Given the description of an element on the screen output the (x, y) to click on. 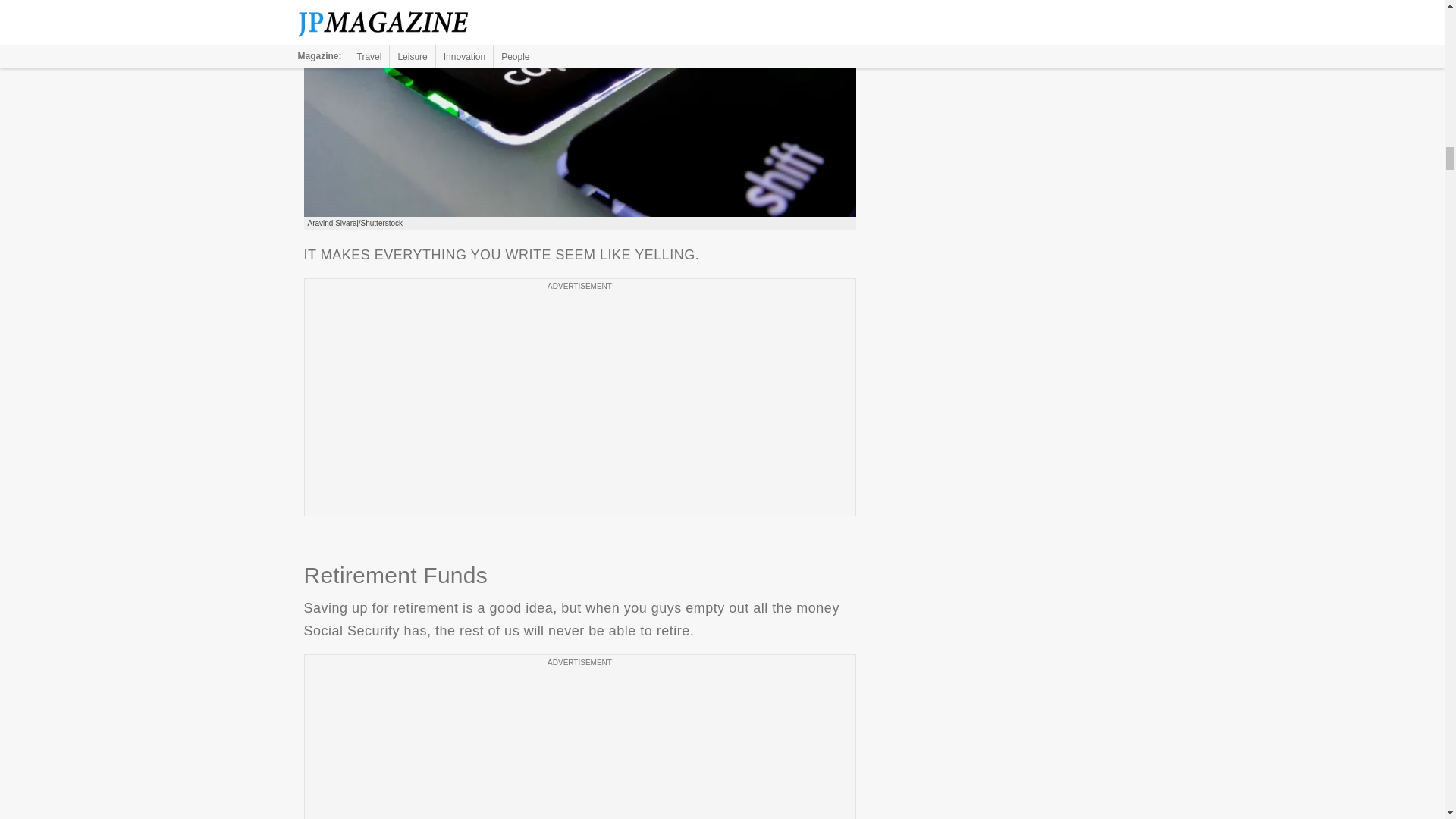
MESSAGES IN ALL CAPS (579, 108)
